Given the description of an element on the screen output the (x, y) to click on. 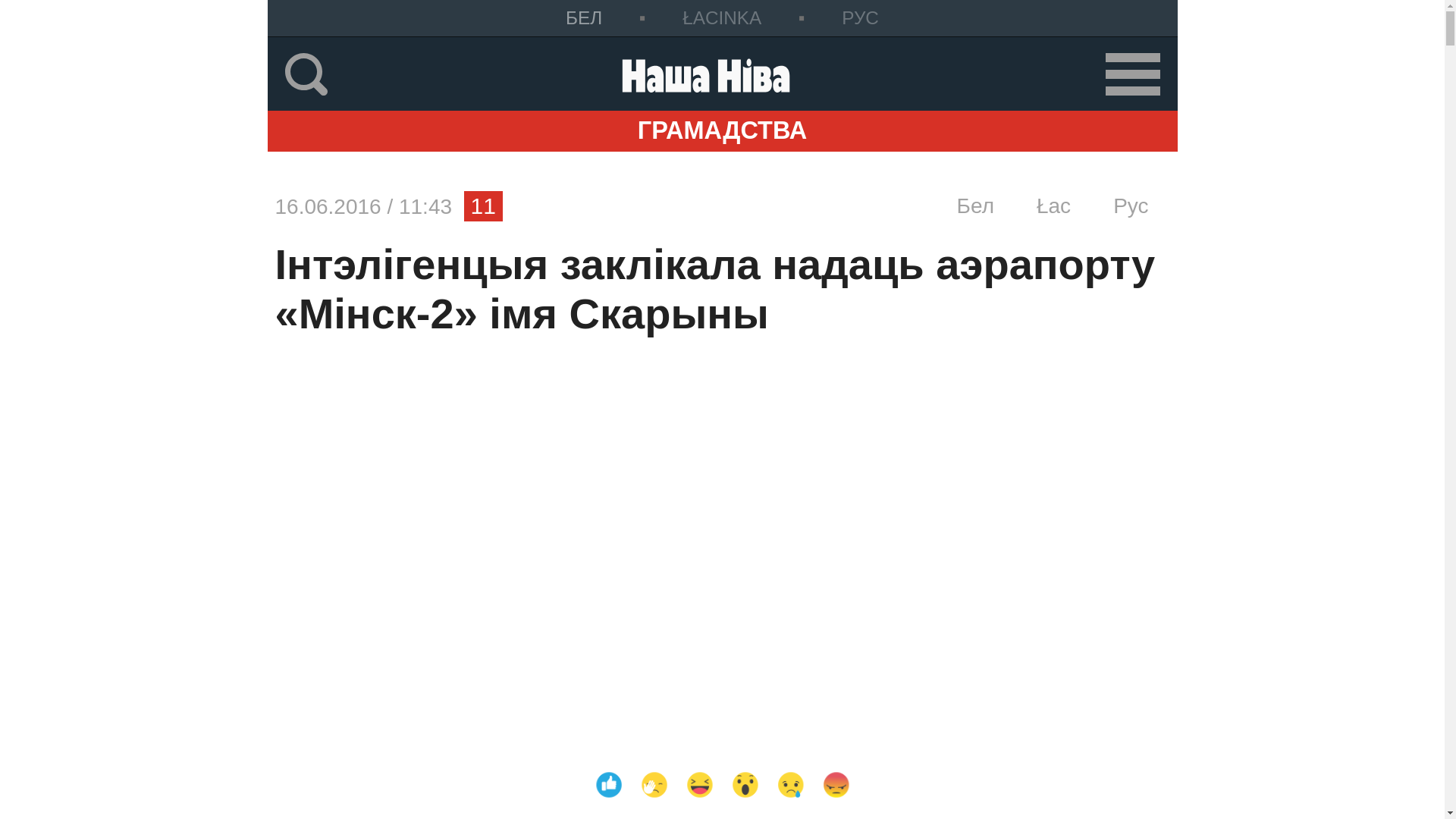
11 Element type: text (483, 206)
